Given the description of an element on the screen output the (x, y) to click on. 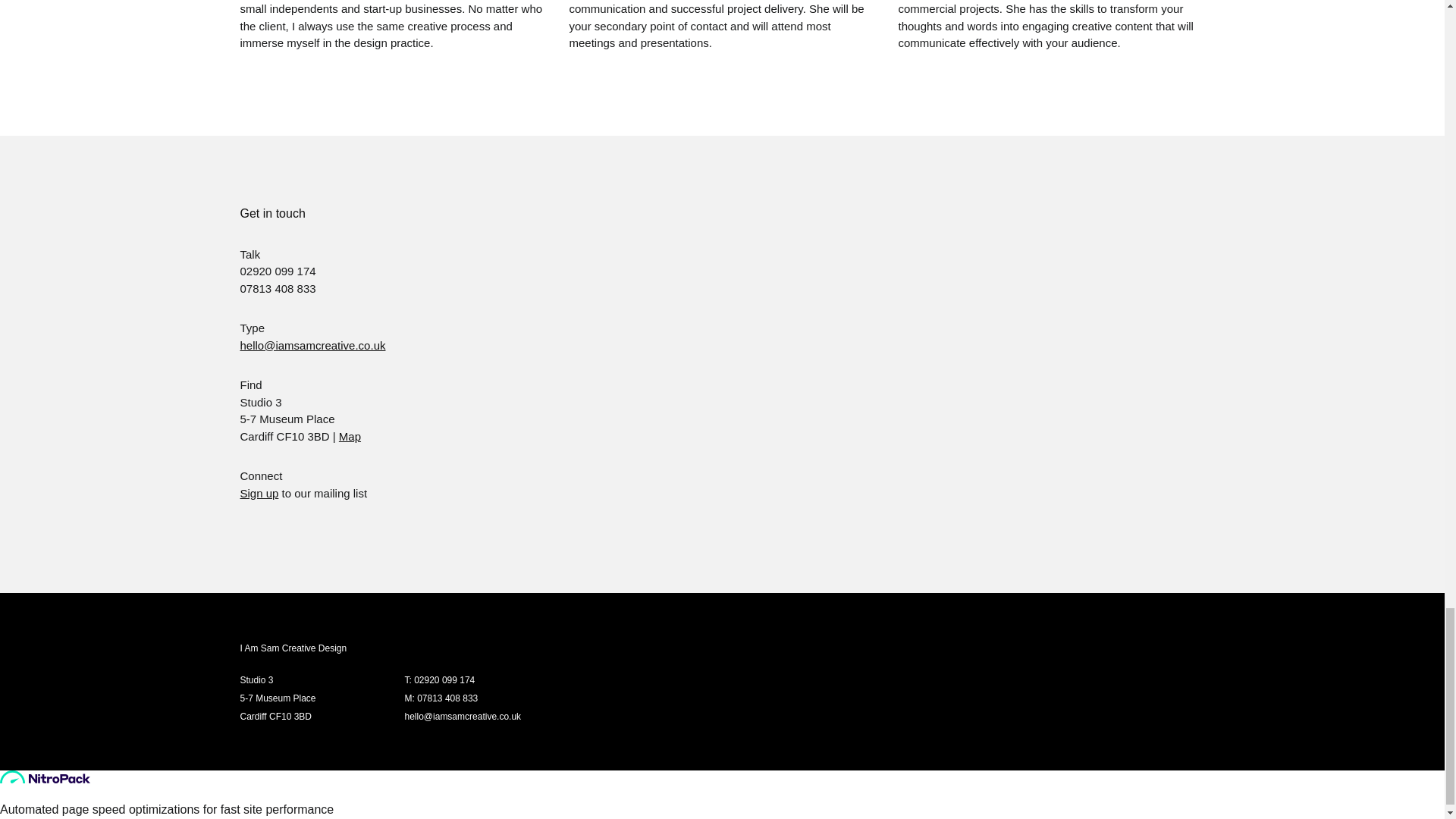
Map (350, 436)
02920 099 174 (443, 679)
Sign up (259, 492)
07813 408 833 (446, 697)
